Given the description of an element on the screen output the (x, y) to click on. 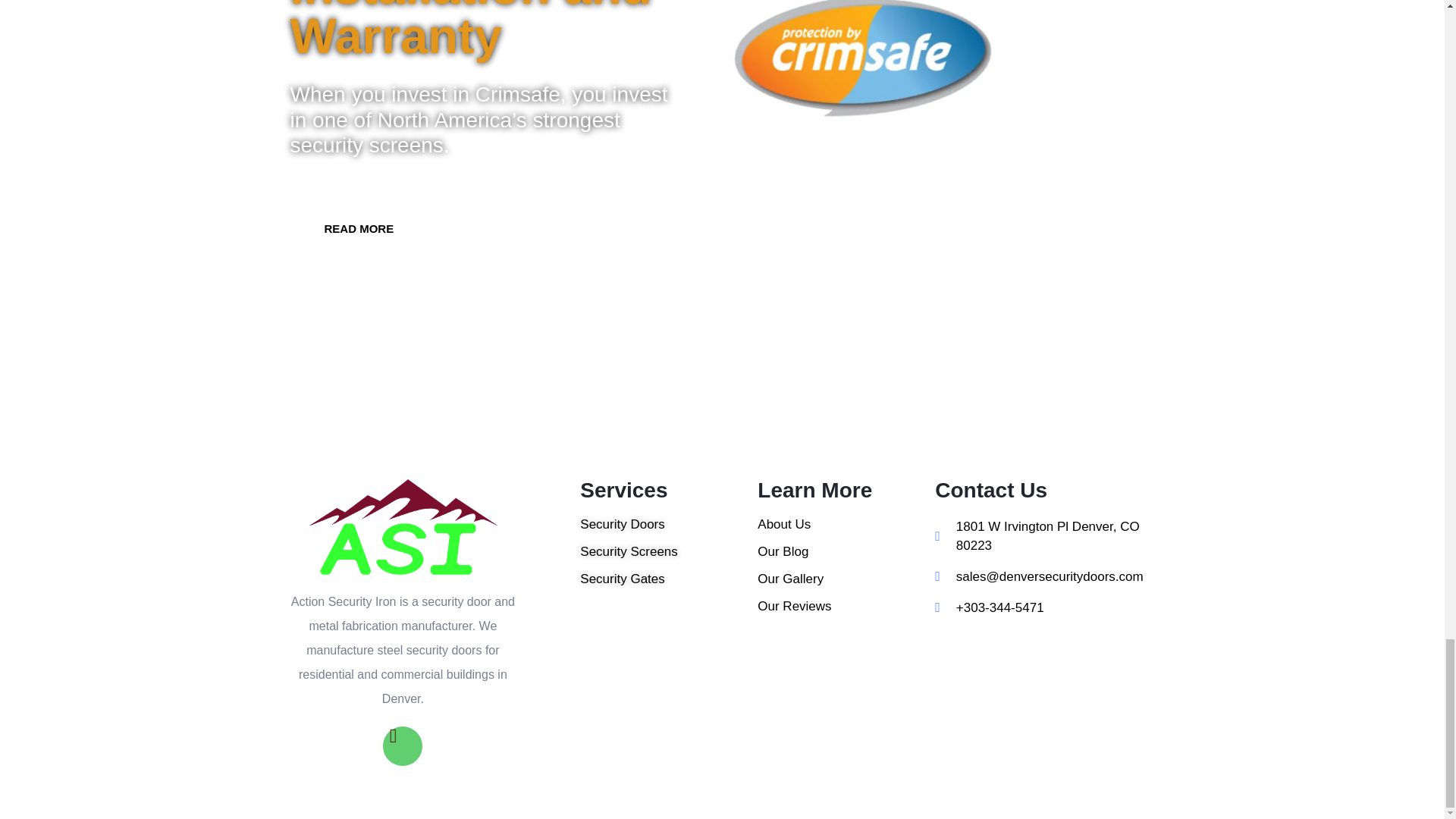
Security Doors (668, 524)
Security Gates (668, 579)
About Us (845, 524)
Our Blog (845, 551)
READ MORE (358, 228)
Security Screens (668, 551)
Our Gallery (845, 579)
Our Reviews (845, 606)
